Given the description of an element on the screen output the (x, y) to click on. 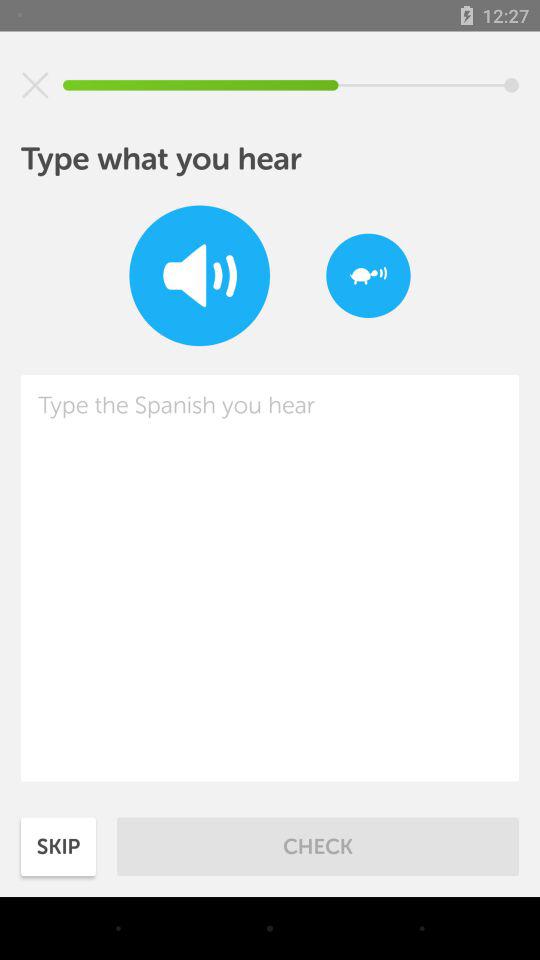
turn on the icon above the type what you item (35, 85)
